Given the description of an element on the screen output the (x, y) to click on. 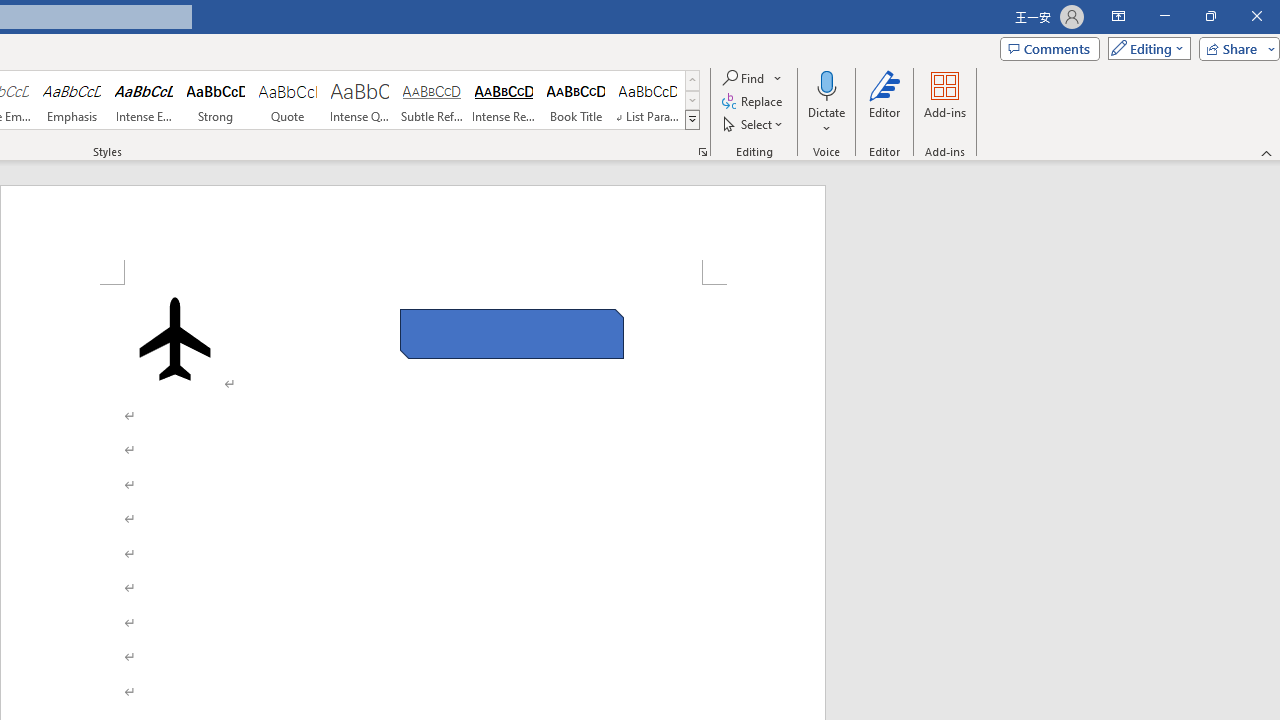
Styles... (702, 151)
Editing (1144, 47)
Strong (216, 100)
Book Title (575, 100)
Subtle Reference (431, 100)
Intense Reference (504, 100)
Styles (692, 120)
